Given the description of an element on the screen output the (x, y) to click on. 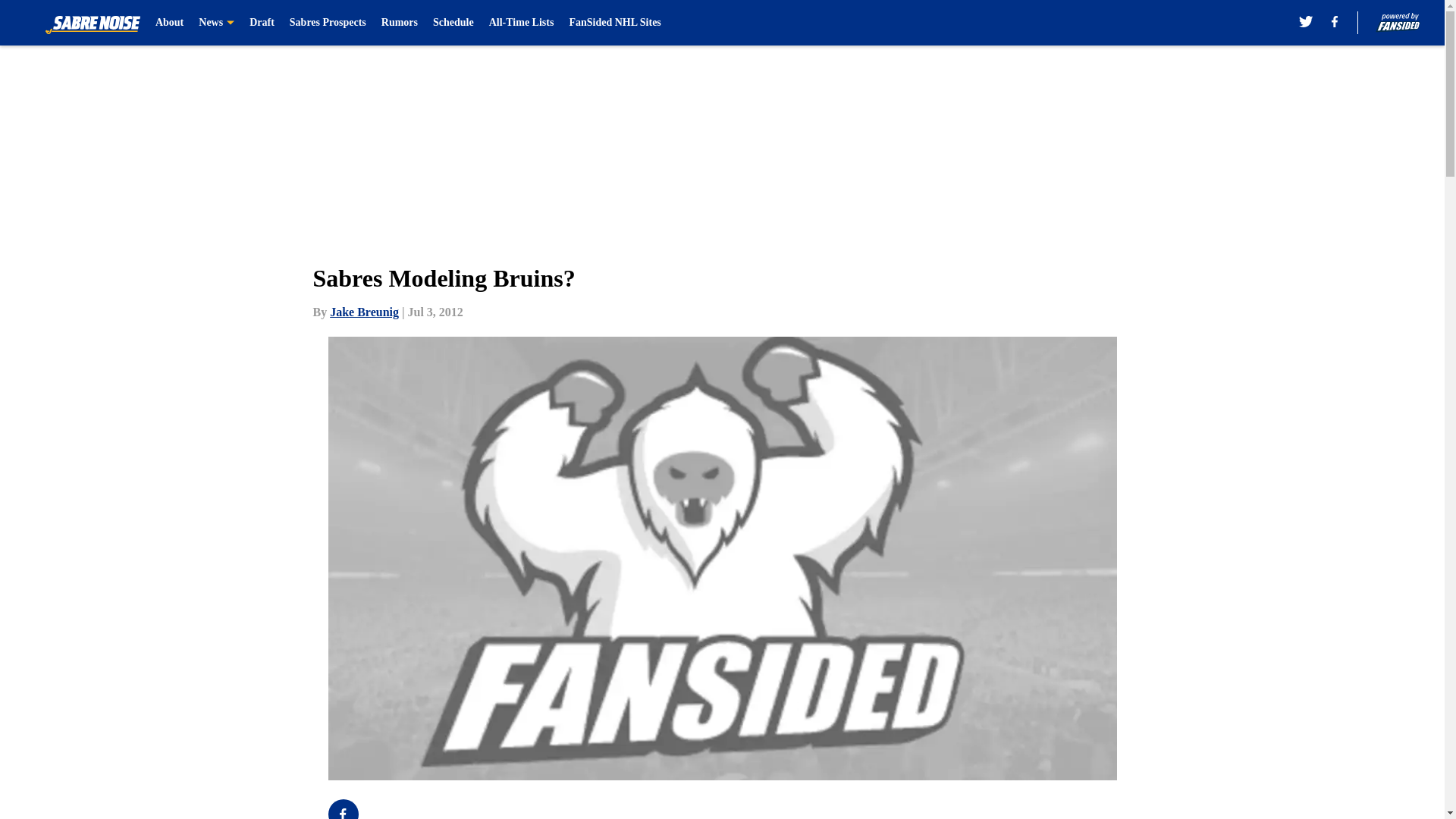
Jake Breunig (364, 311)
Sabres Prospects (327, 22)
FanSided NHL Sites (615, 22)
Rumors (399, 22)
All-Time Lists (521, 22)
About (169, 22)
Draft (261, 22)
Schedule (453, 22)
